Given the description of an element on the screen output the (x, y) to click on. 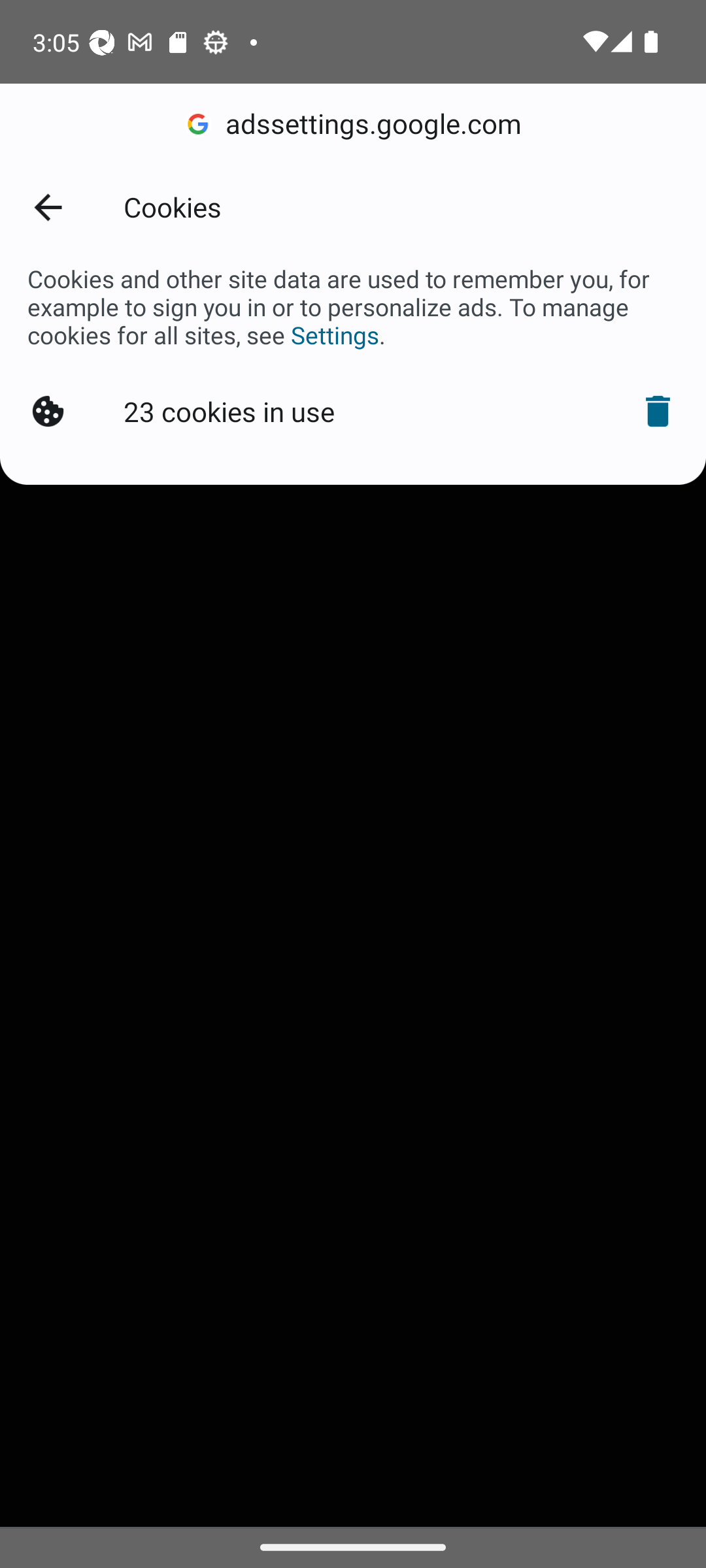
adssettings.google.com (353, 124)
Back (47, 206)
23 cookies in use Clear cookies? (353, 411)
